Given the description of an element on the screen output the (x, y) to click on. 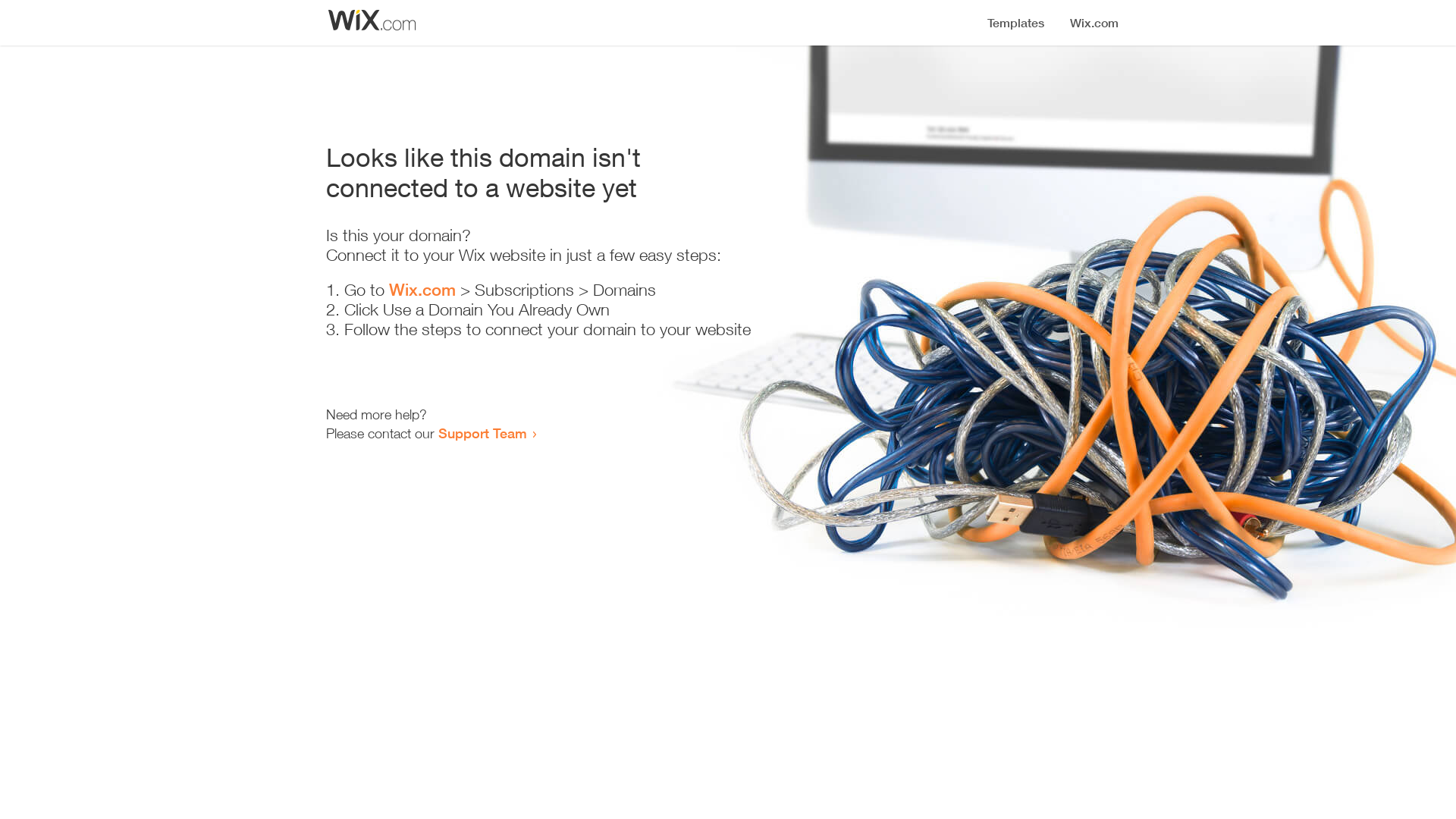
Support Team Element type: text (482, 432)
Wix.com Element type: text (422, 289)
